Given the description of an element on the screen output the (x, y) to click on. 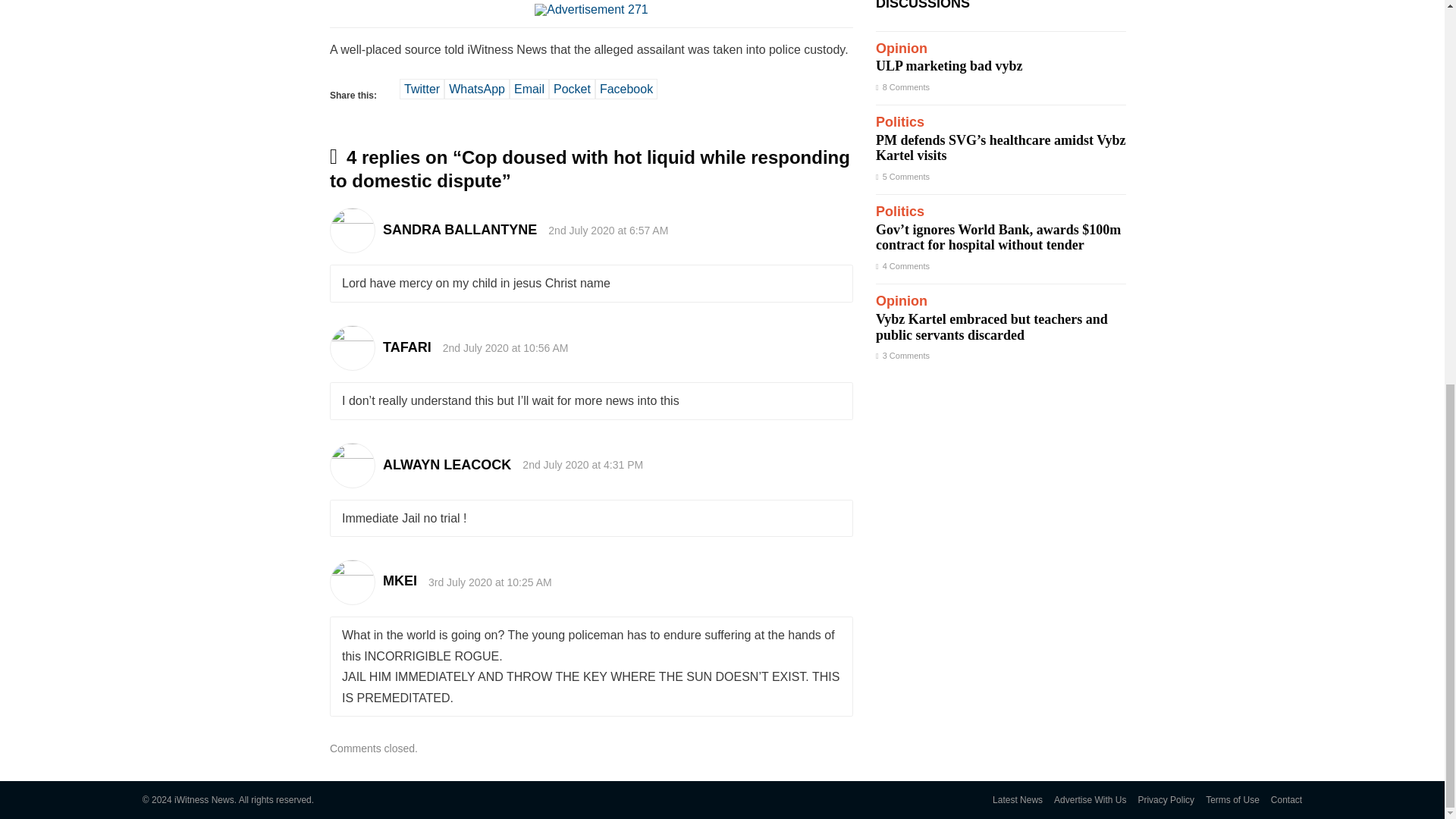
Click to share on Twitter (421, 88)
Click to share on Pocket (571, 88)
2nd July 2020 at 4:31 PM (582, 464)
Click to share on WhatsApp (476, 88)
Click to share on Facebook (626, 88)
ULP marketing bad vybz (1000, 59)
2nd July 2020 at 6:57 AM (608, 230)
Click to email a link to a friend (528, 88)
